Given the description of an element on the screen output the (x, y) to click on. 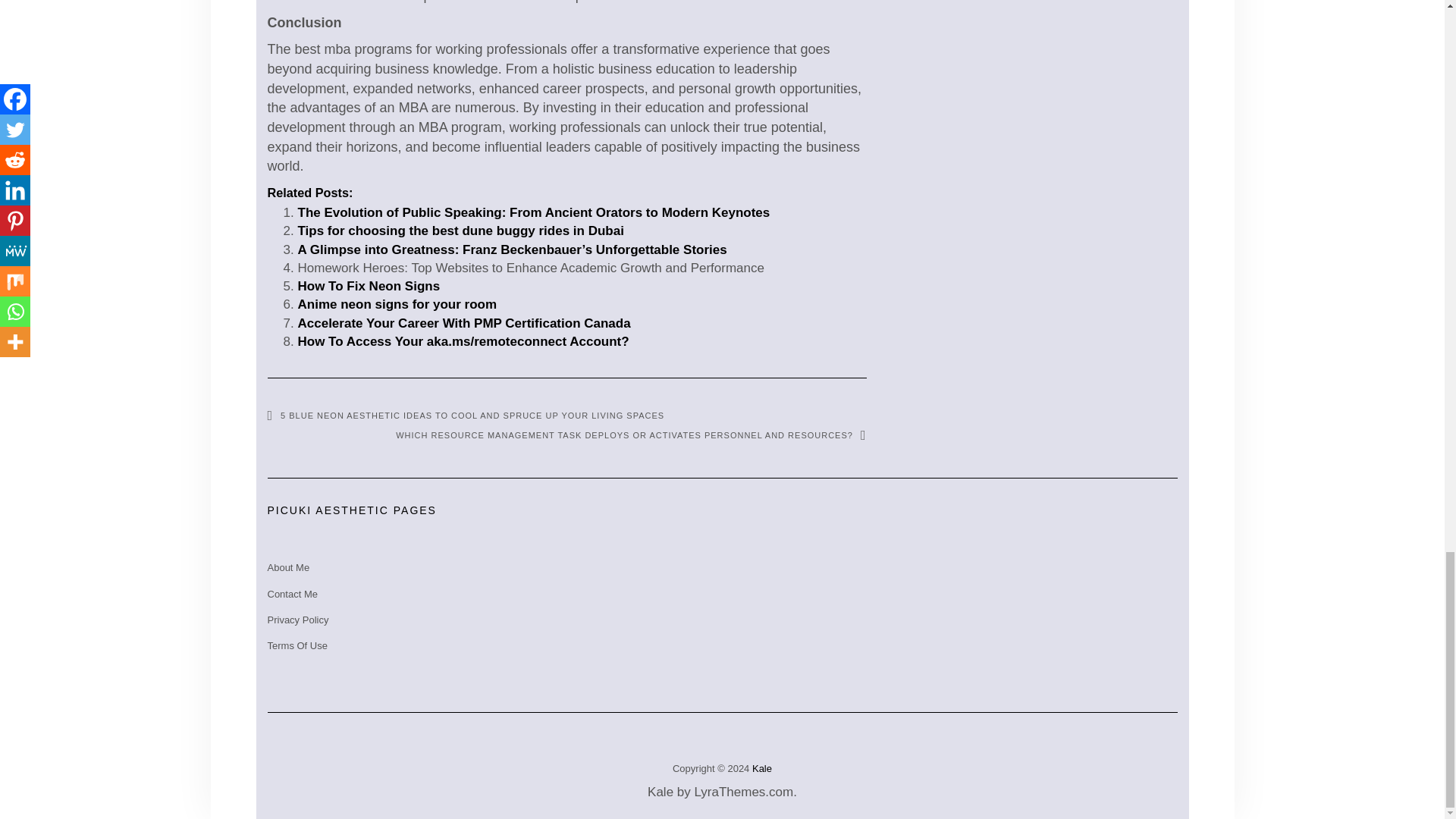
Accelerate Your Career With PMP Certification Canada (463, 323)
Anime neon signs for your room (396, 304)
How To Fix Neon Signs (368, 286)
Tips for choosing the best dune buggy rides in Dubai (460, 230)
